Given the description of an element on the screen output the (x, y) to click on. 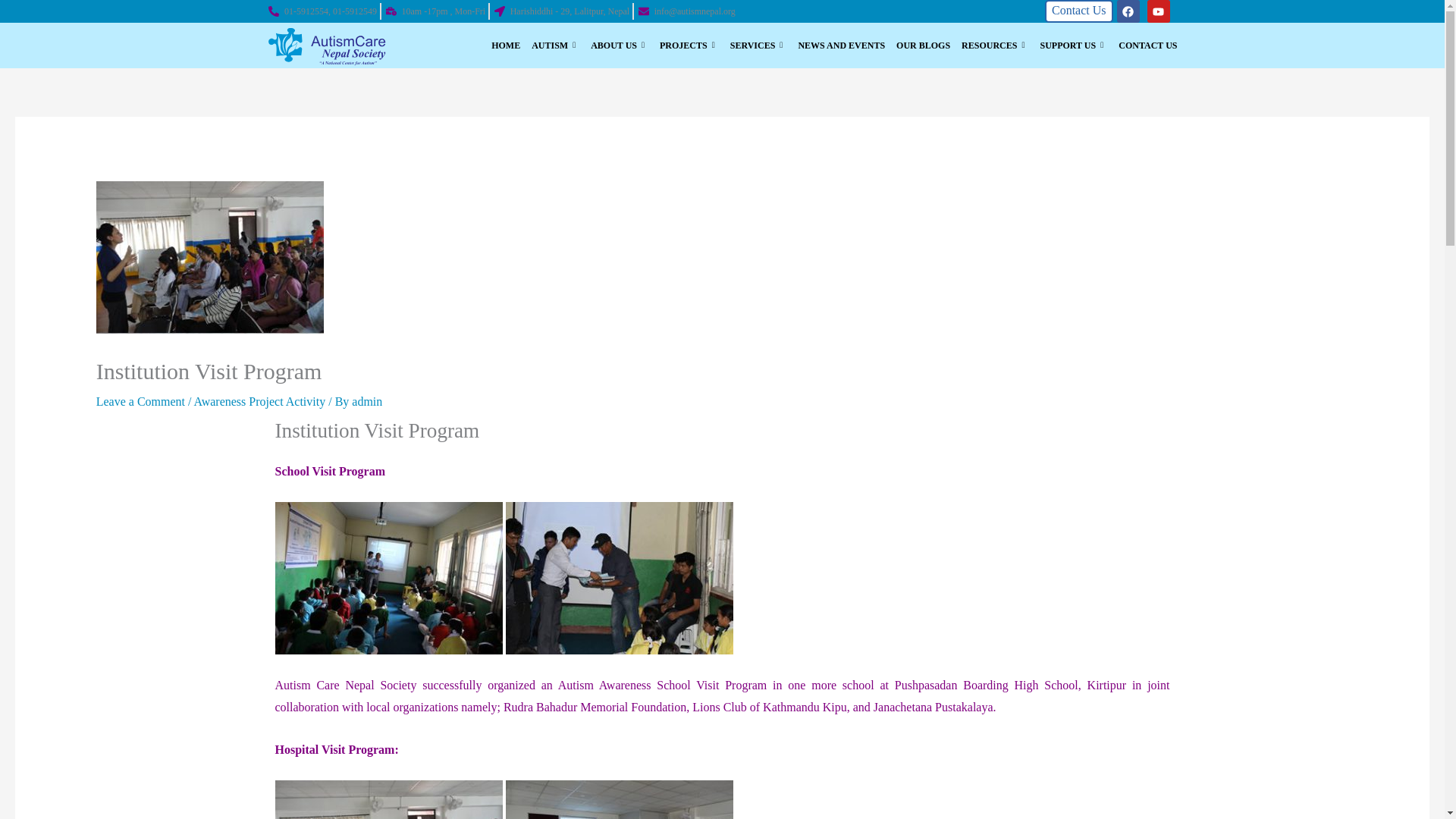
Youtube (1158, 11)
Contact Us (1079, 11)
ABOUT US (613, 45)
View all posts by admin (366, 400)
NEWS AND EVENTS (835, 45)
HOME (499, 45)
PROJECTS (683, 45)
OUR BLOGS (917, 45)
Facebook (1127, 11)
AUTISM (549, 45)
SERVICES (753, 45)
RESOURCES (988, 45)
